Given the description of an element on the screen output the (x, y) to click on. 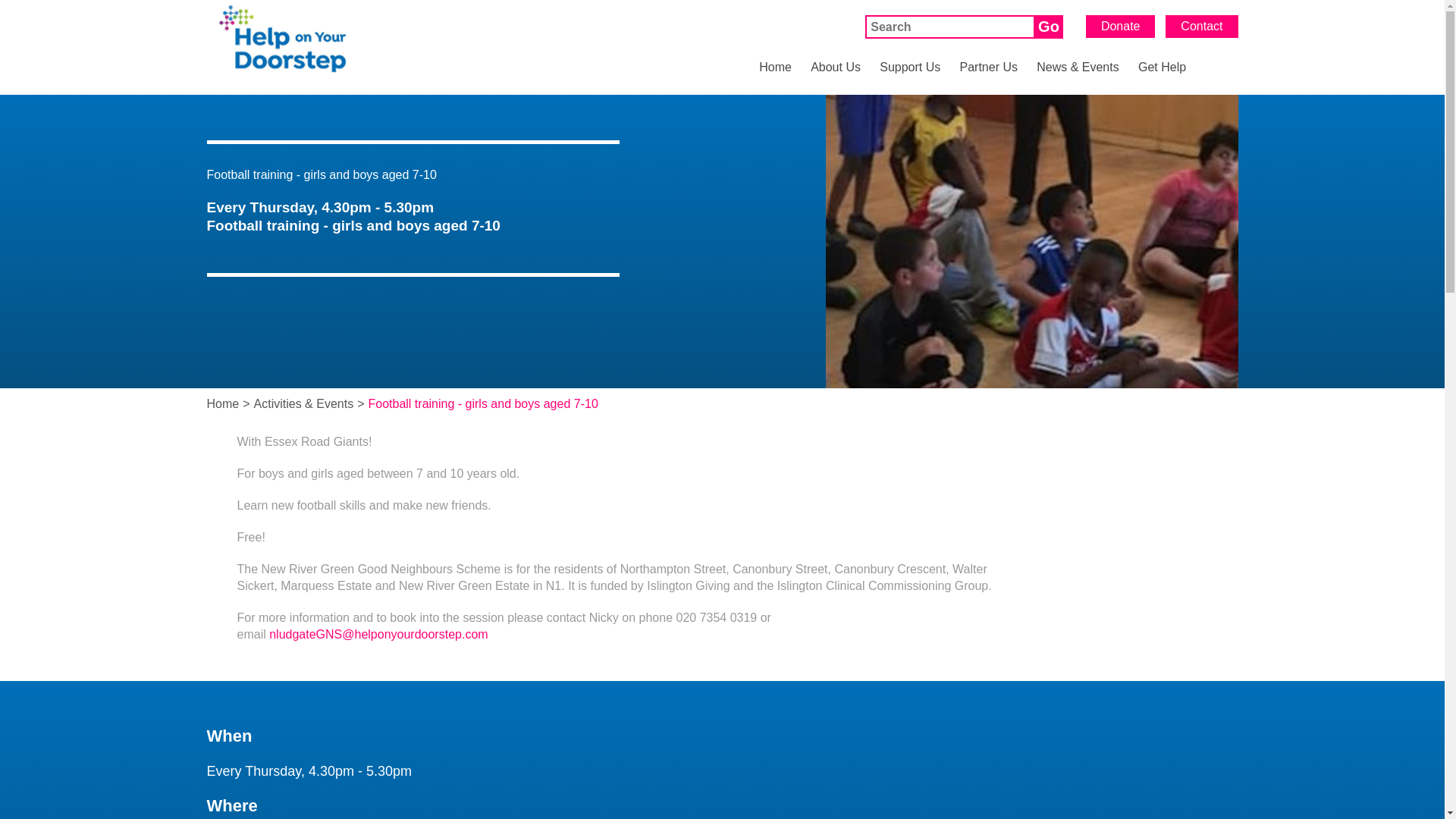
Donate (1121, 26)
Go (1047, 26)
Partner Us (988, 77)
Support Us (909, 77)
Go (1047, 26)
Contact (1201, 26)
Home (775, 77)
Go (1047, 26)
About Us (835, 77)
Get Help (1162, 77)
